Given the description of an element on the screen output the (x, y) to click on. 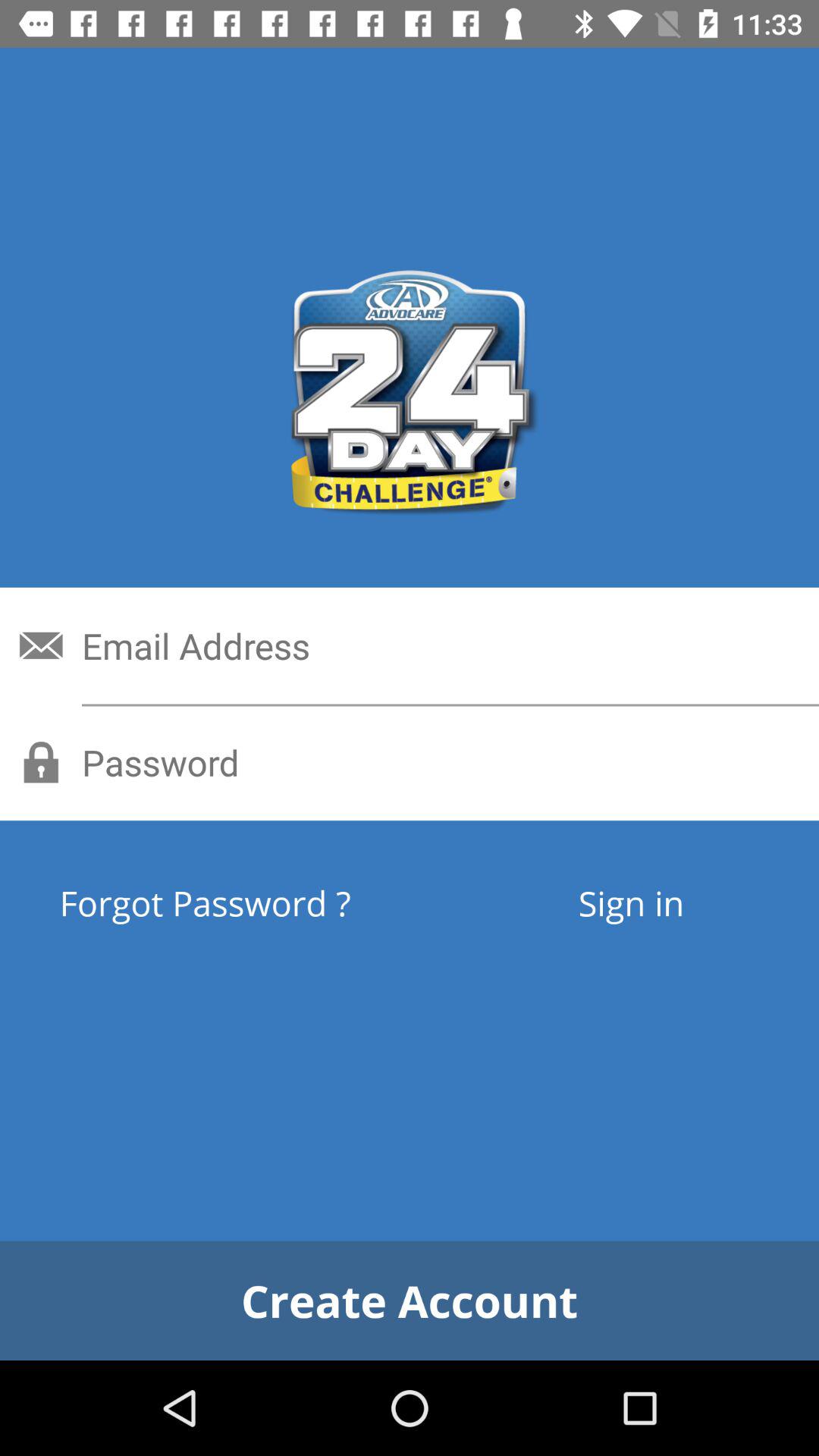
launch the create account (409, 1300)
